Given the description of an element on the screen output the (x, y) to click on. 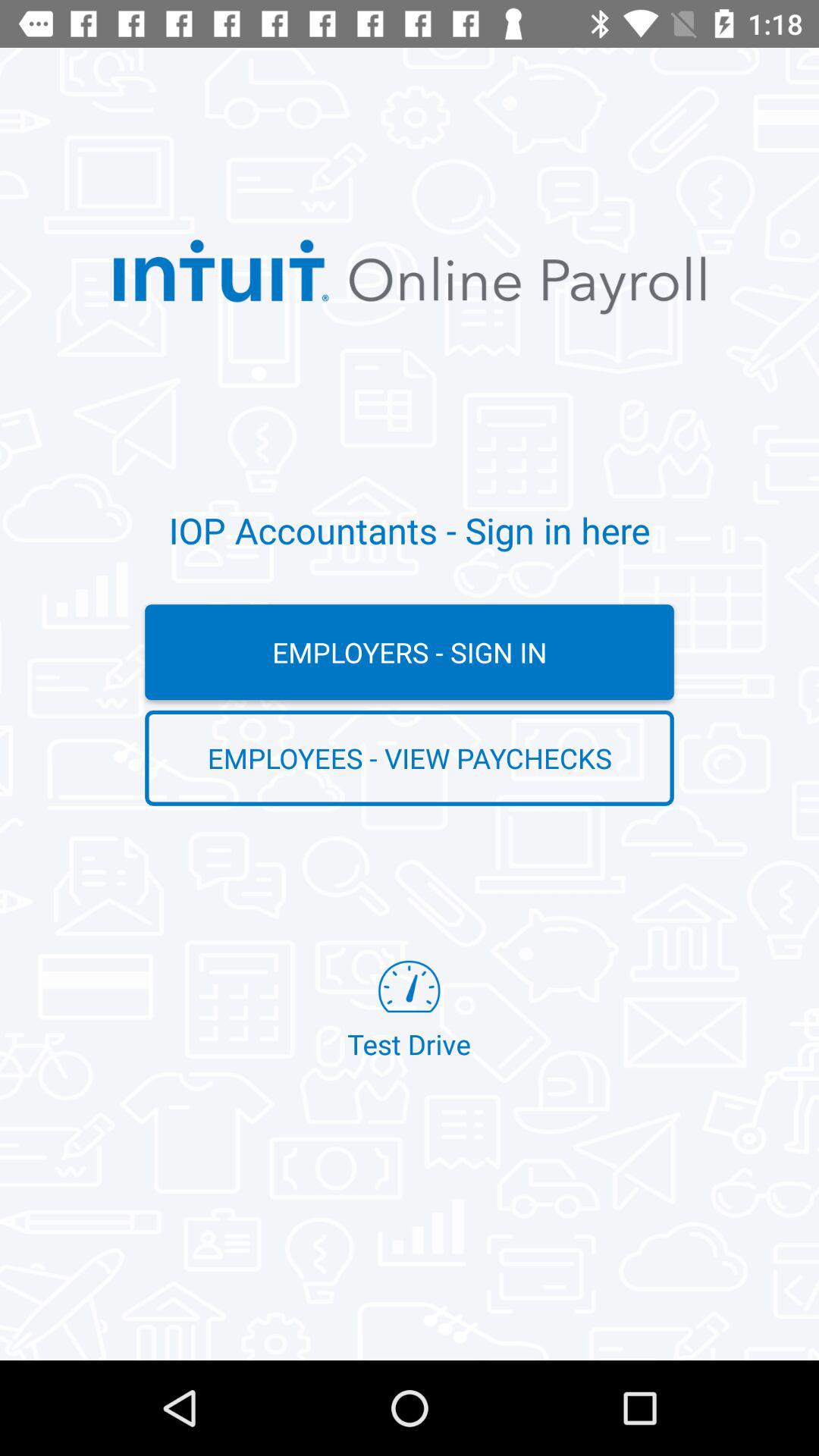
jump to the test drive (408, 1011)
